Given the description of an element on the screen output the (x, y) to click on. 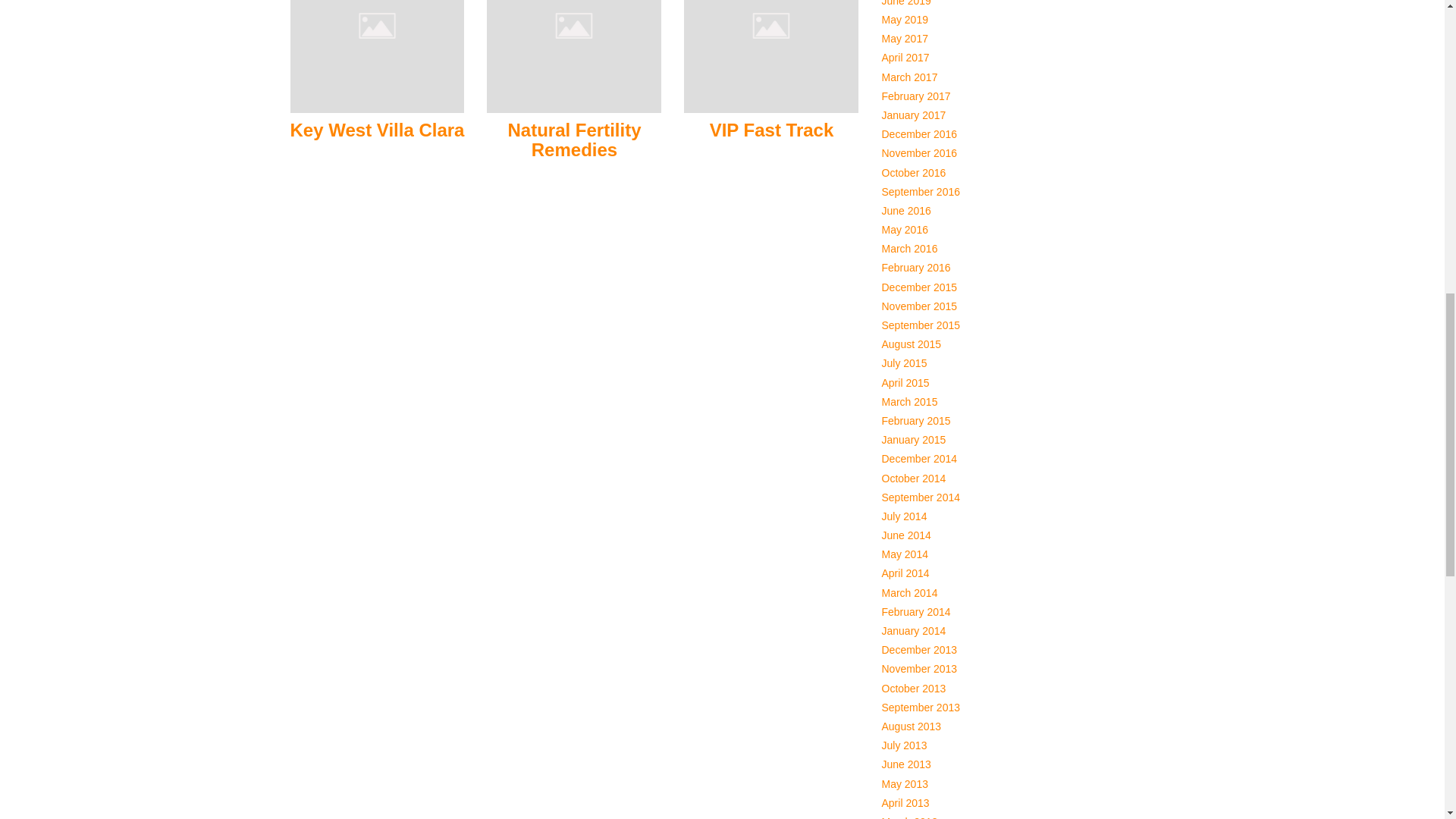
VIP Fast Track (771, 24)
Natural Fertility Remedies (573, 139)
Key West Villa Clara (376, 24)
Key West Villa Clara (376, 129)
VIP Fast Track (772, 129)
Natural Fertility Remedies (573, 24)
